Given the description of an element on the screen output the (x, y) to click on. 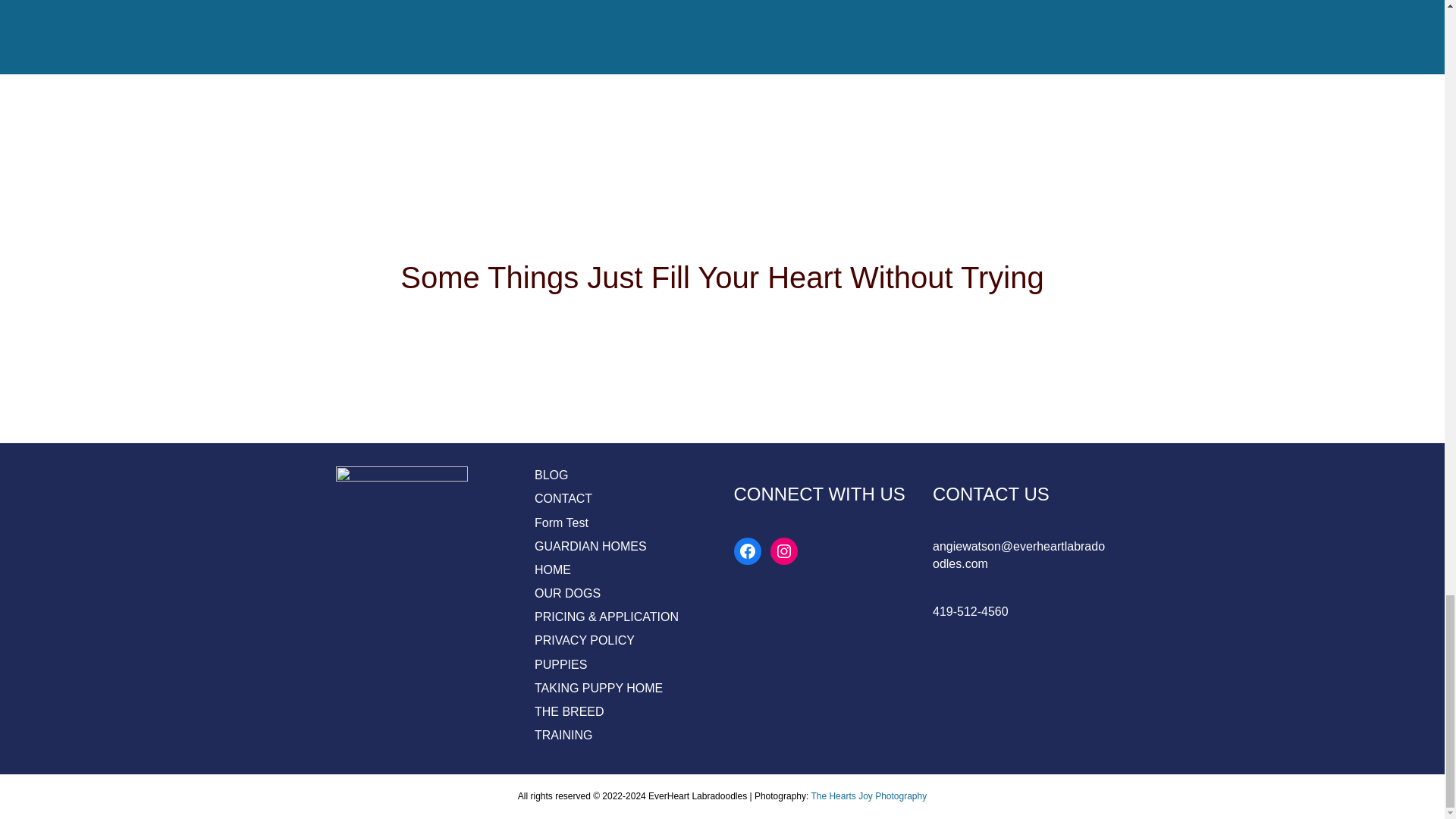
THE BREED (569, 711)
PRIVACY POLICY (584, 640)
TAKING PUPPY HOME (598, 687)
GUARDIAN HOMES (590, 545)
CONTACT (563, 498)
BLOG (550, 474)
OUR DOGS (566, 593)
HOME (552, 569)
PUPPIES (560, 664)
Form Test (561, 522)
